Given the description of an element on the screen output the (x, y) to click on. 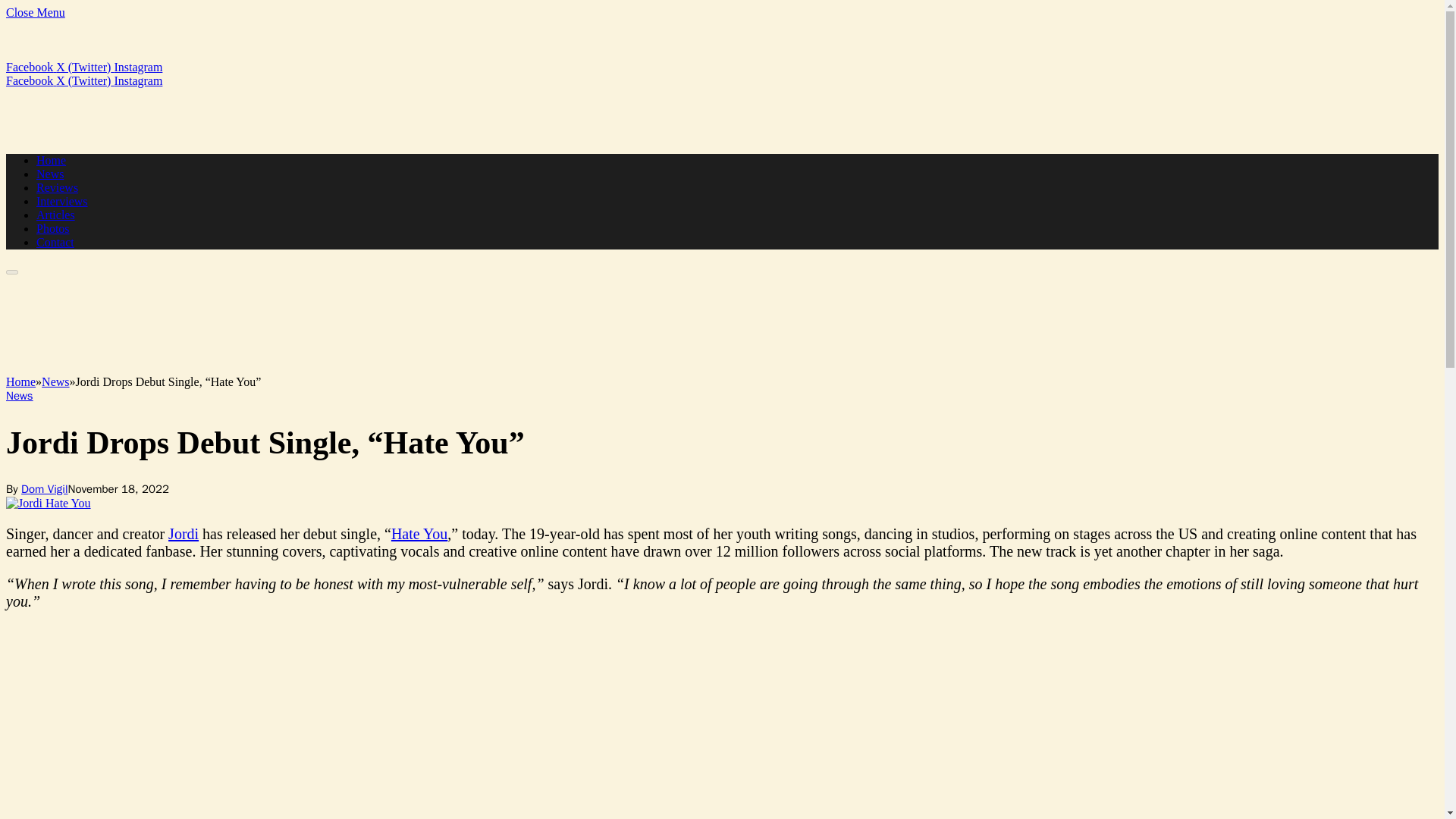
Dom Vigil (43, 489)
Contact (55, 241)
Facebook (30, 80)
Instagram (137, 80)
Posts by Dom Vigil (43, 489)
Home (19, 381)
Home (50, 160)
Hate You (418, 533)
Prelude Press (81, 296)
Interviews (61, 201)
Jordi (183, 533)
Facebook (30, 66)
Instagram (137, 66)
Photos (52, 228)
Close Menu (35, 11)
